Given the description of an element on the screen output the (x, y) to click on. 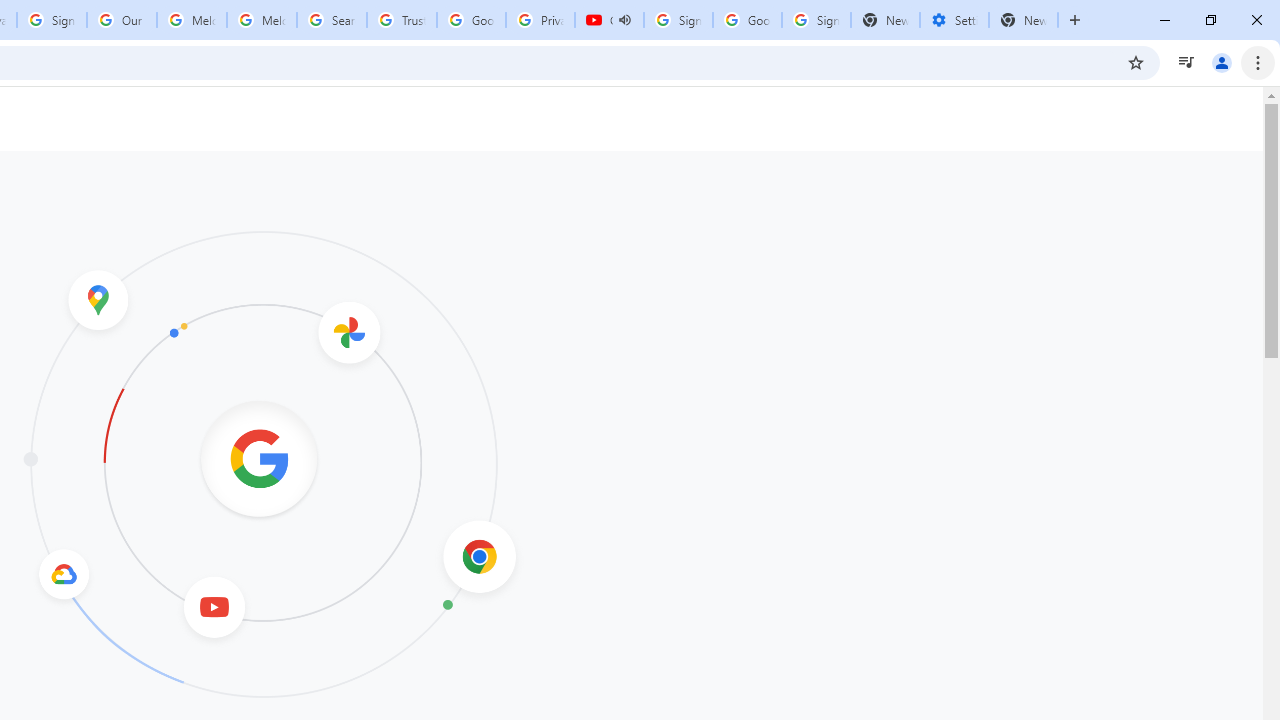
Mute tab (624, 20)
Control your music, videos, and more (1185, 62)
Trusted Information and Content - Google Safety Center (401, 20)
Sign in - Google Accounts (677, 20)
Sign in - Google Accounts (51, 20)
Google Cybersecurity Innovations - Google Safety Center (747, 20)
